Given the description of an element on the screen output the (x, y) to click on. 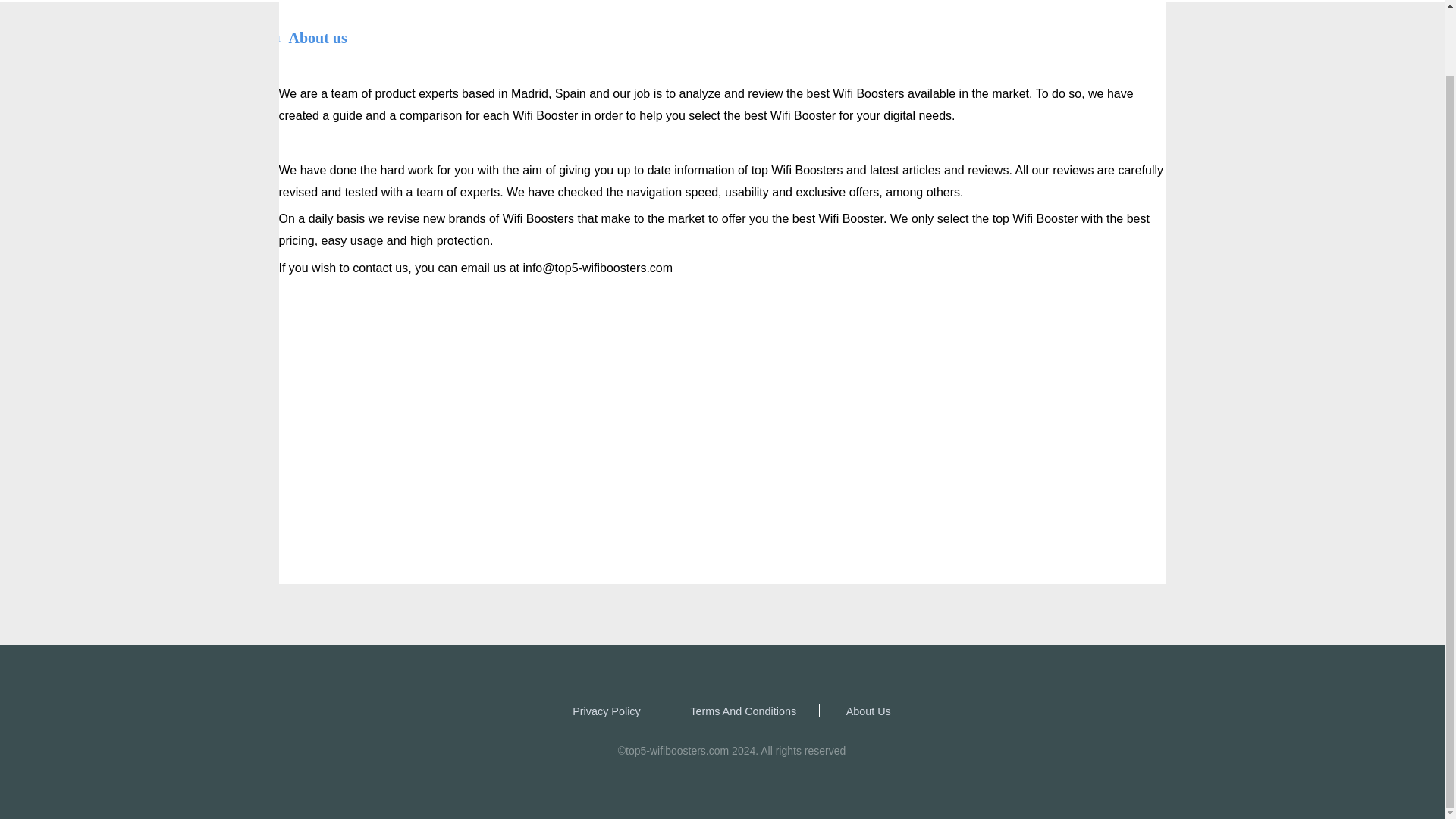
Privacy Policy (606, 710)
About Us (868, 710)
Terms And Conditions (743, 710)
